Given the description of an element on the screen output the (x, y) to click on. 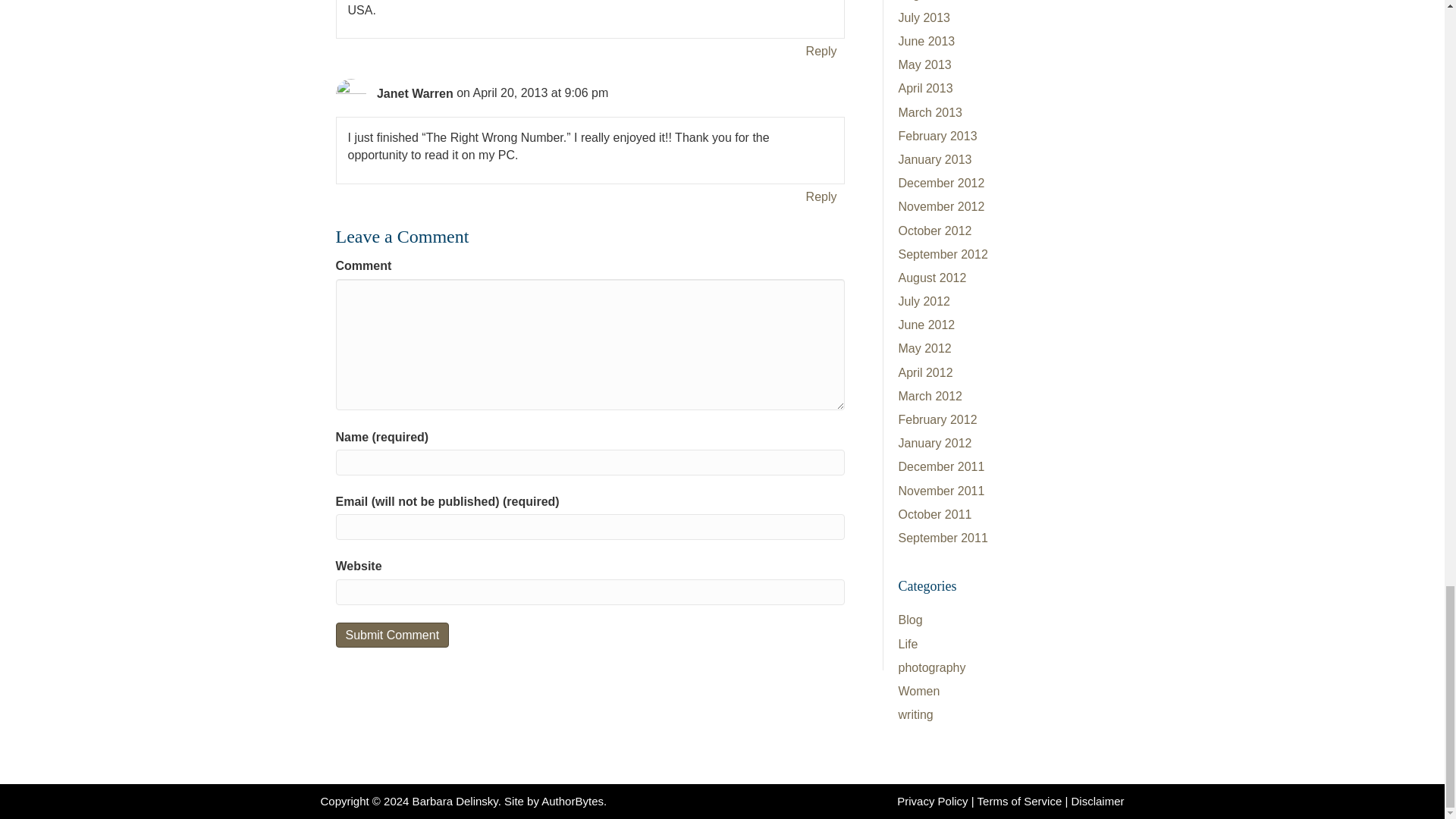
Submit Comment (391, 634)
Submit Comment (391, 634)
Reply (821, 196)
Reply (821, 50)
